Given the description of an element on the screen output the (x, y) to click on. 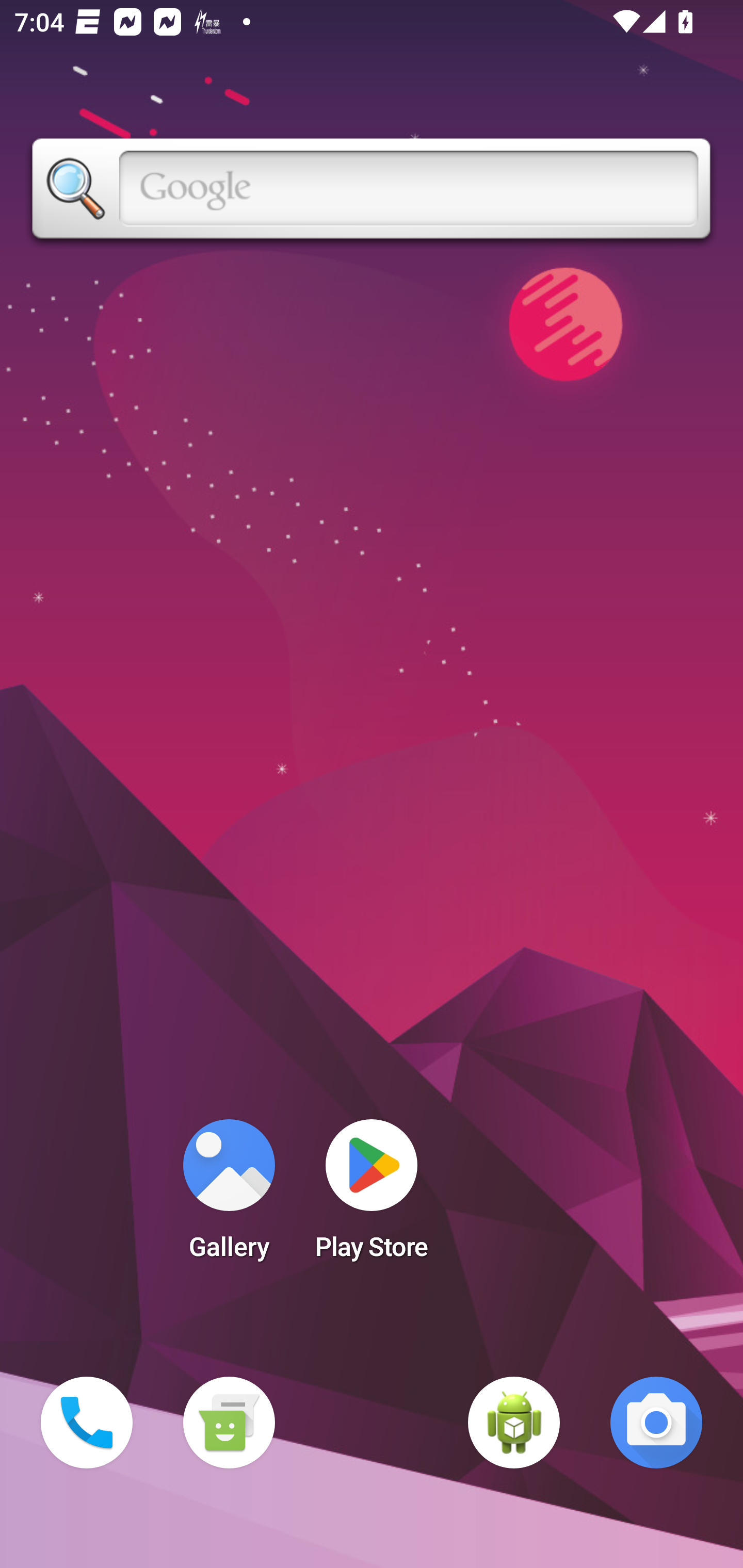
Gallery (228, 1195)
Play Store (371, 1195)
Phone (86, 1422)
Messaging (228, 1422)
WebView Browser Tester (513, 1422)
Camera (656, 1422)
